Given the description of an element on the screen output the (x, y) to click on. 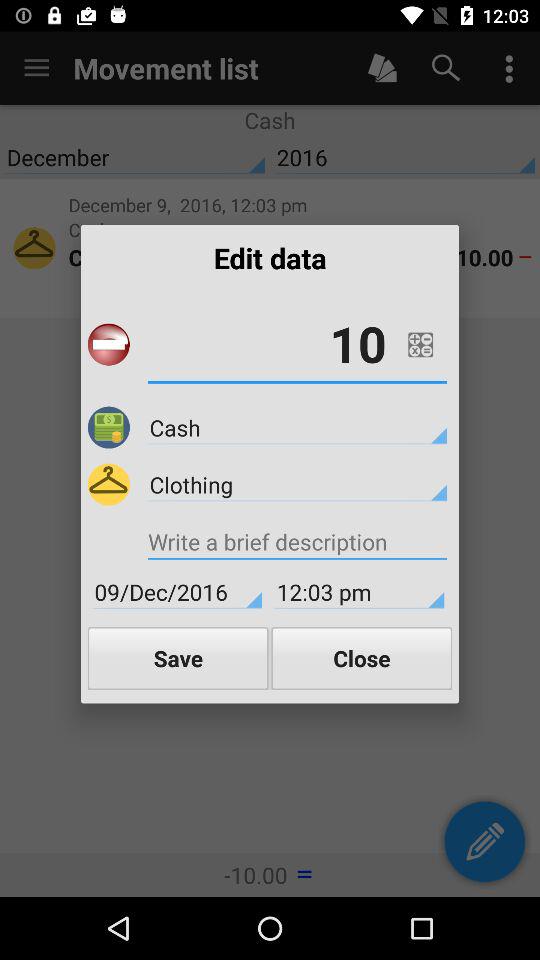
press icon above clothing icon (297, 427)
